Given the description of an element on the screen output the (x, y) to click on. 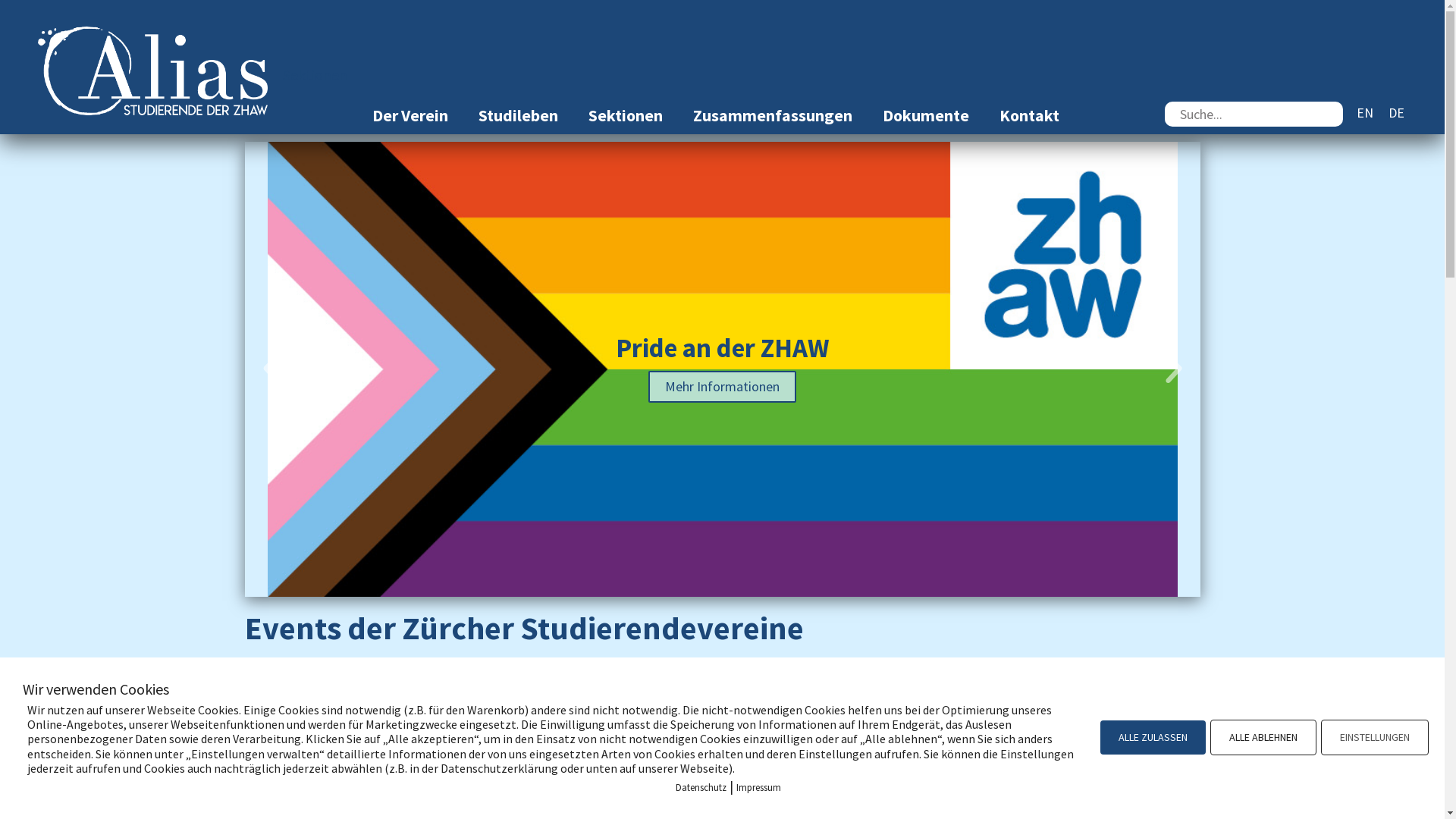
EN Element type: text (1364, 112)
Kontakt Element type: text (1029, 115)
EINSTELLUNGEN Element type: text (1374, 737)
Pride an der ZHAW
Mehr Informationen Element type: text (721, 368)
Datenschutz Element type: text (699, 787)
Dokumente Element type: text (925, 115)
Der Verein Element type: text (410, 115)
ALLE ZULASSEN Element type: text (1152, 737)
DE Element type: text (1396, 112)
Zusammenfassungen Element type: text (772, 115)
Studileben Element type: text (518, 115)
Impressum Element type: text (757, 787)
ALLE ABLEHNEN Element type: text (1263, 737)
Sektionen Element type: text (625, 115)
